Given the description of an element on the screen output the (x, y) to click on. 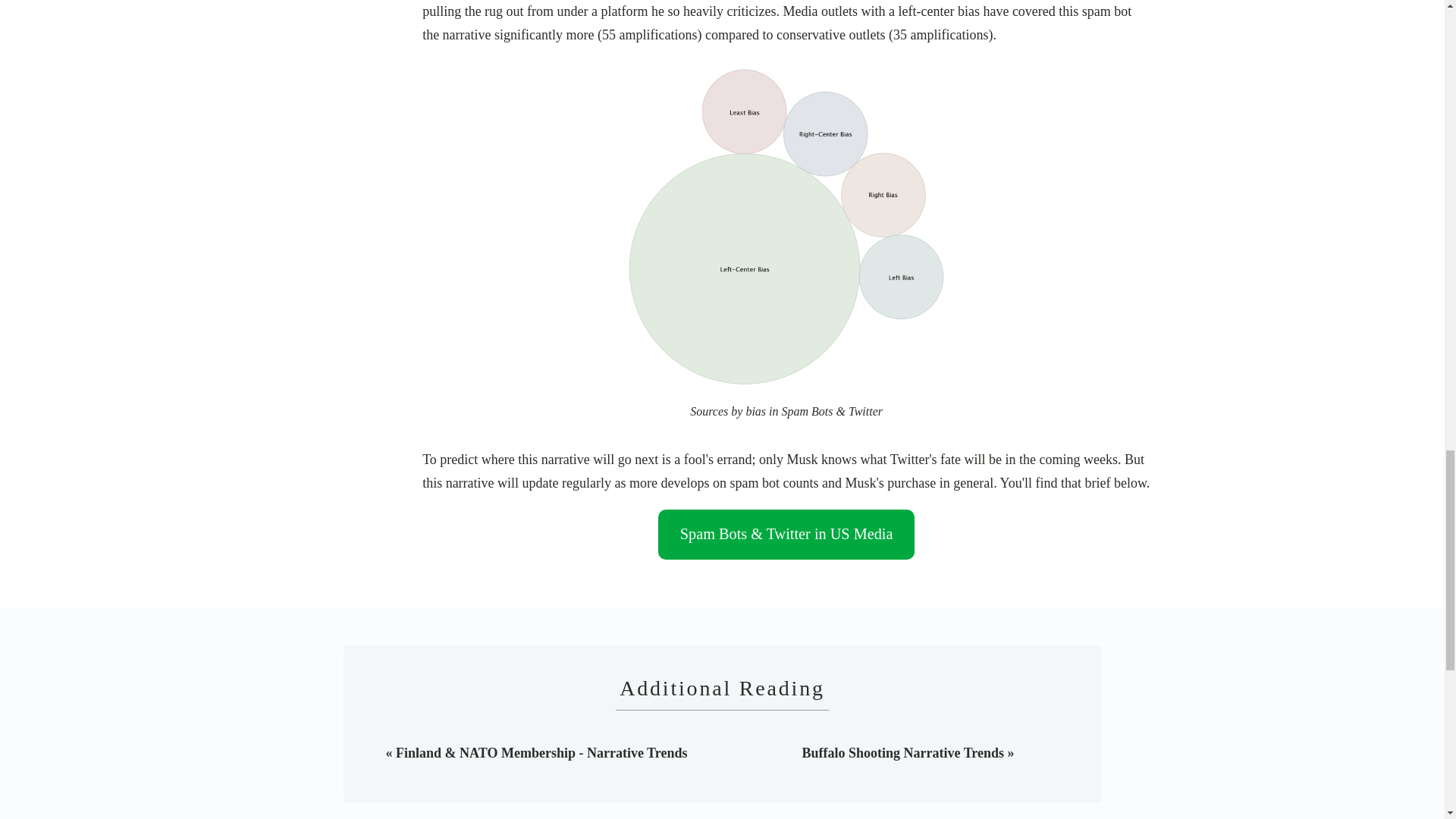
Buffalo Shooting Narrative Trends (903, 752)
